Given the description of an element on the screen output the (x, y) to click on. 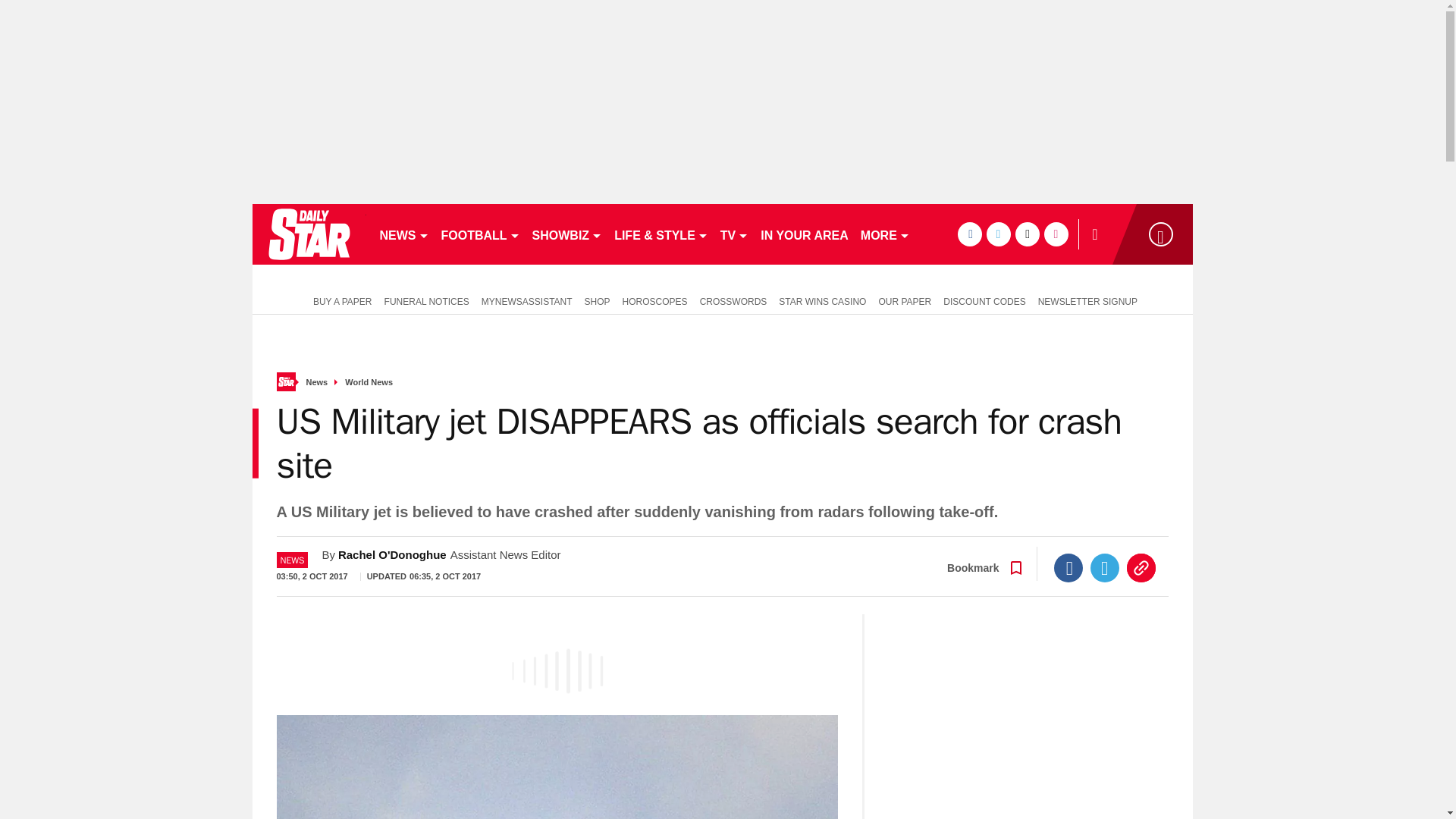
instagram (1055, 233)
tiktok (1026, 233)
Facebook (1068, 567)
Twitter (1104, 567)
FOOTBALL (480, 233)
NEWS (402, 233)
SHOWBIZ (566, 233)
facebook (968, 233)
dailystar (308, 233)
twitter (997, 233)
